Given the description of an element on the screen output the (x, y) to click on. 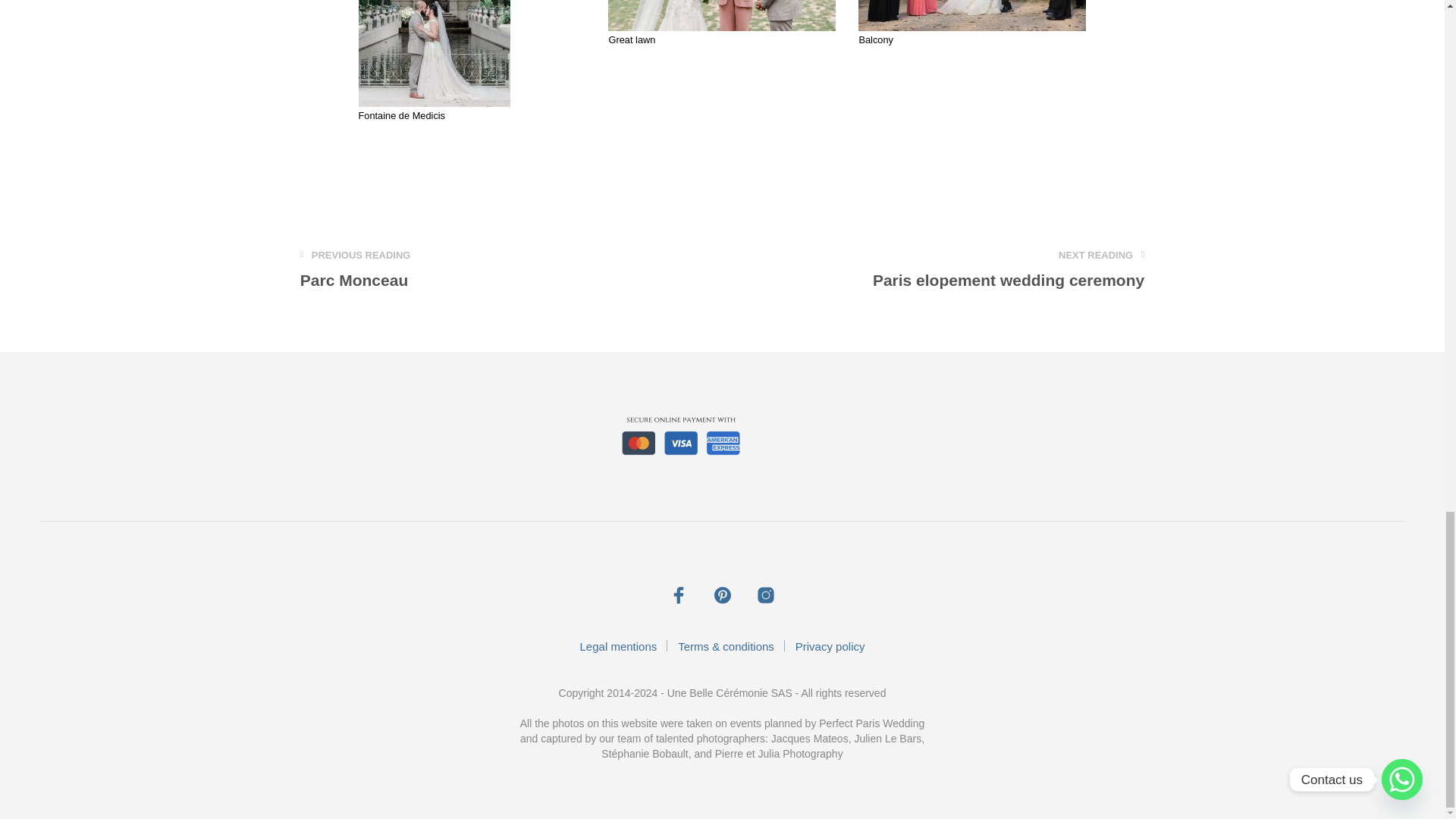
Legal mentions (354, 269)
A-chateau-like-wedding-at-the-Luxembourg-garden (618, 645)
Privacy policy (1008, 269)
